Given the description of an element on the screen output the (x, y) to click on. 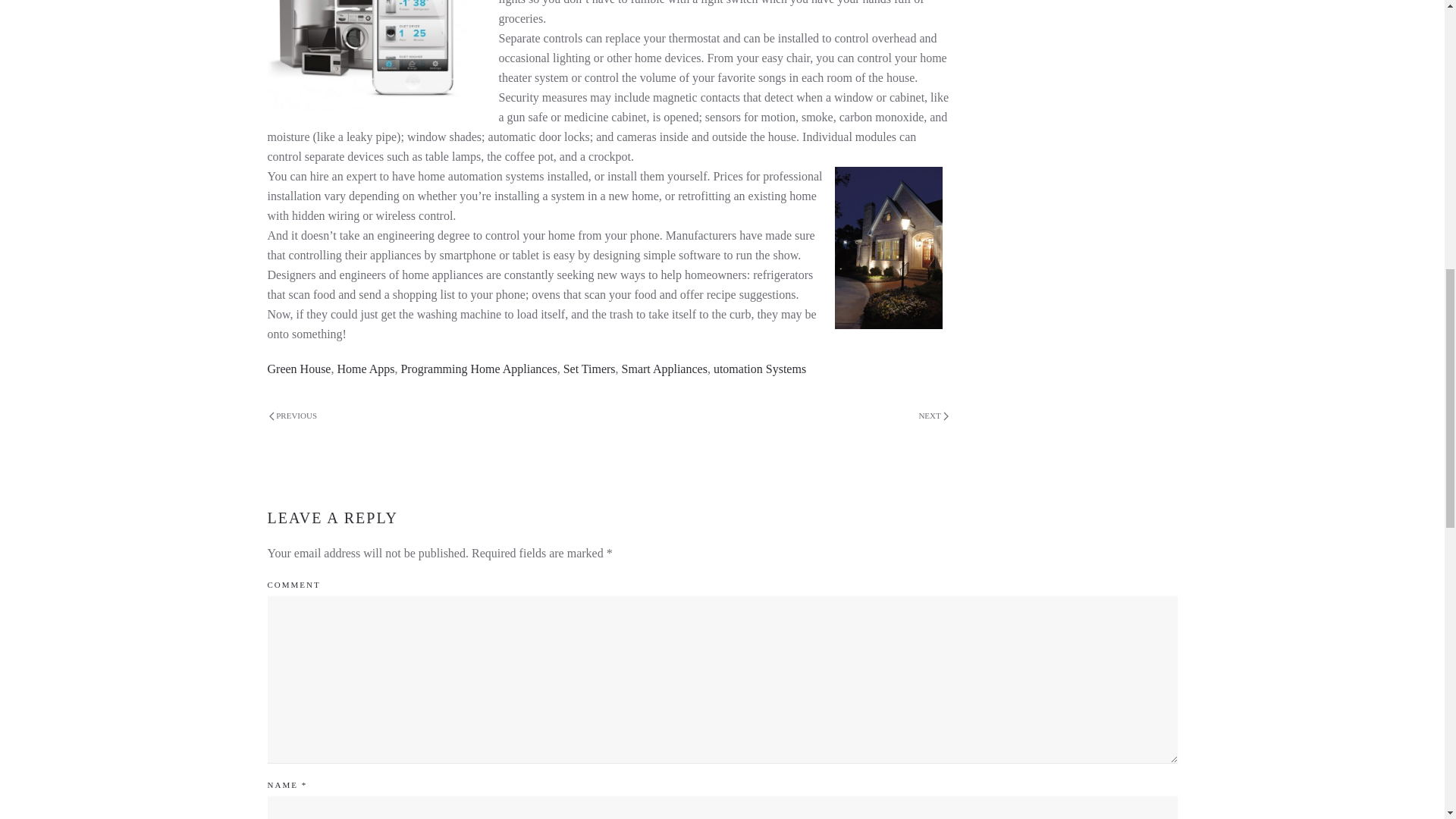
Home Apps (365, 368)
Green House (298, 368)
homeappliancesc (366, 55)
Set Timers (589, 368)
Programming Home Appliances (478, 368)
Smart Appliances (664, 368)
